Given the description of an element on the screen output the (x, y) to click on. 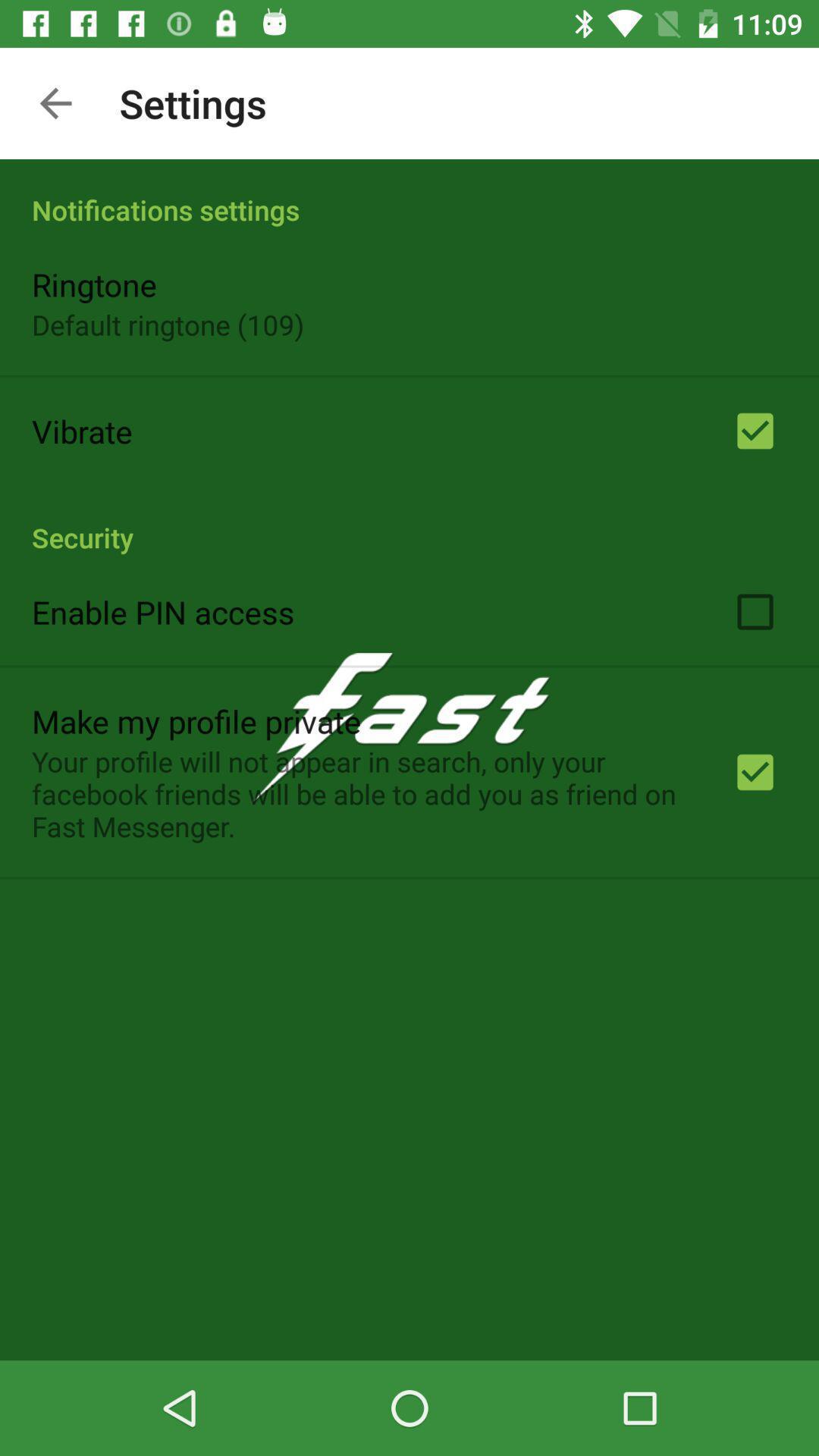
select the icon next to the settings item (55, 103)
